Given the description of an element on the screen output the (x, y) to click on. 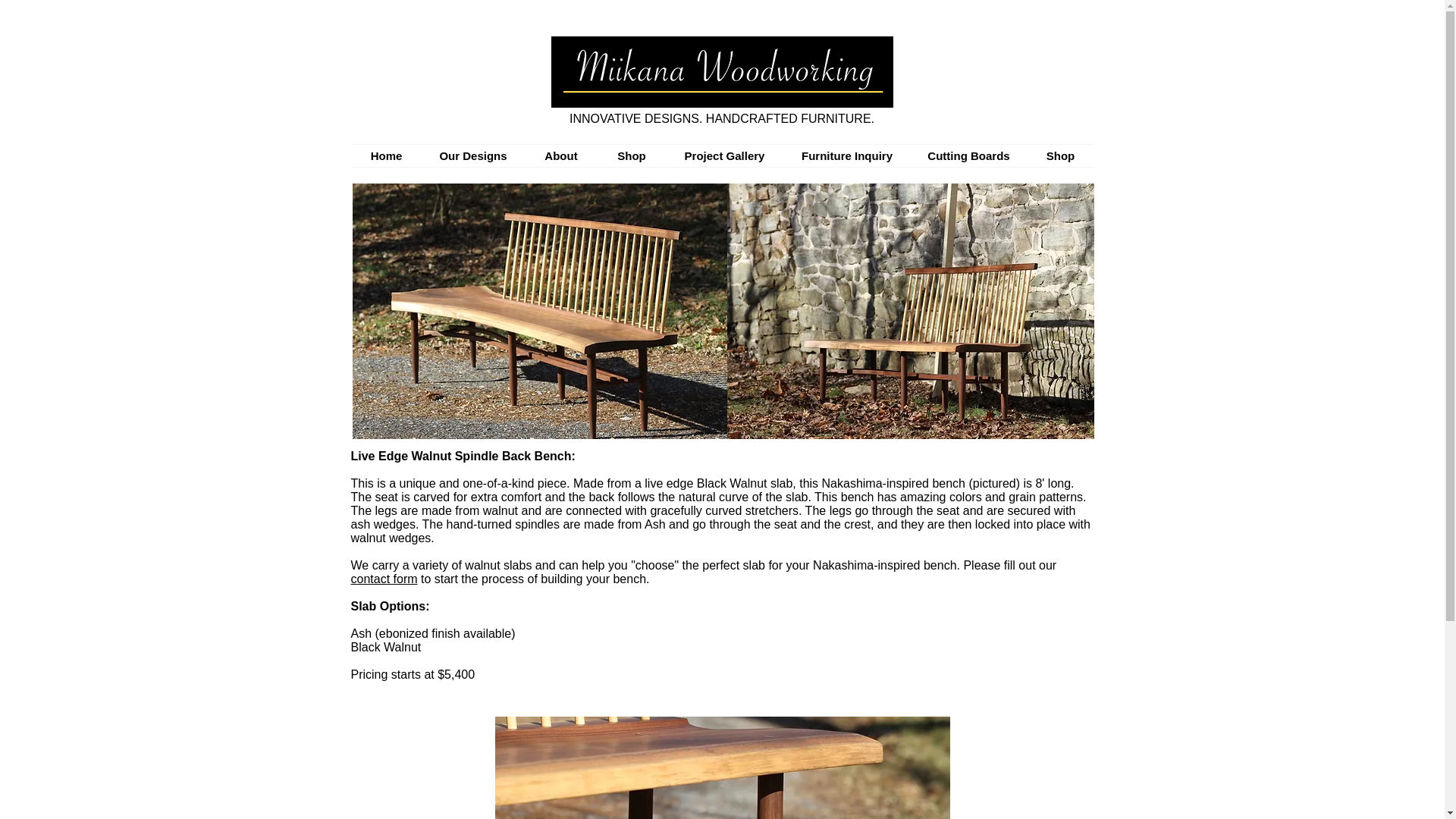
Cutting Boards (968, 155)
Project Gallery (724, 155)
Shop (1059, 155)
Home (386, 155)
Furniture Inquiry (847, 155)
About (561, 155)
contact form (383, 578)
Shop (630, 155)
